Given the description of an element on the screen output the (x, y) to click on. 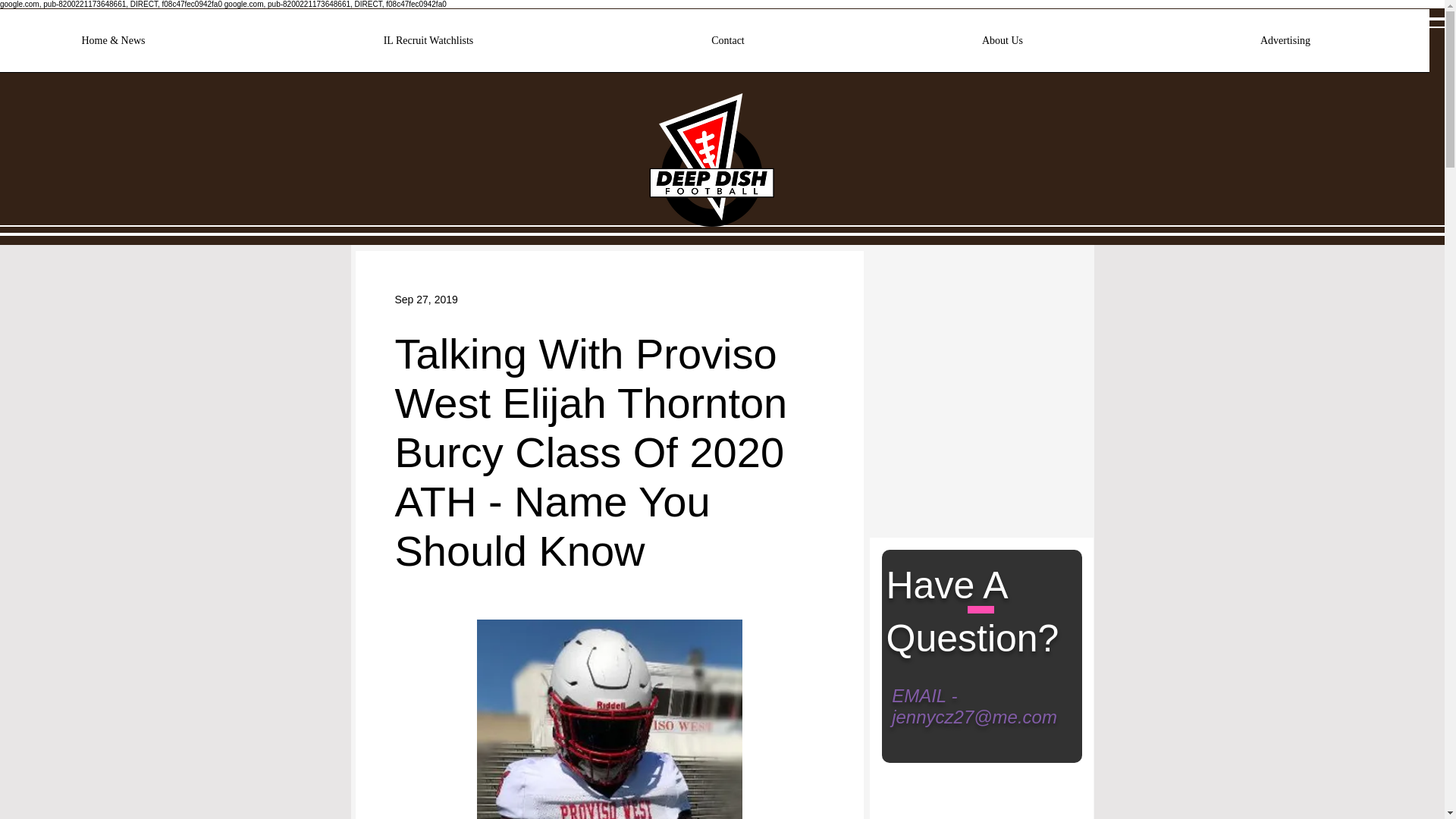
Sep 27, 2019 (425, 298)
Advertising (1285, 45)
Twitter Follow (932, 289)
About Us (1002, 45)
IL Recruit Watchlists (427, 45)
Contact (727, 45)
